Given the description of an element on the screen output the (x, y) to click on. 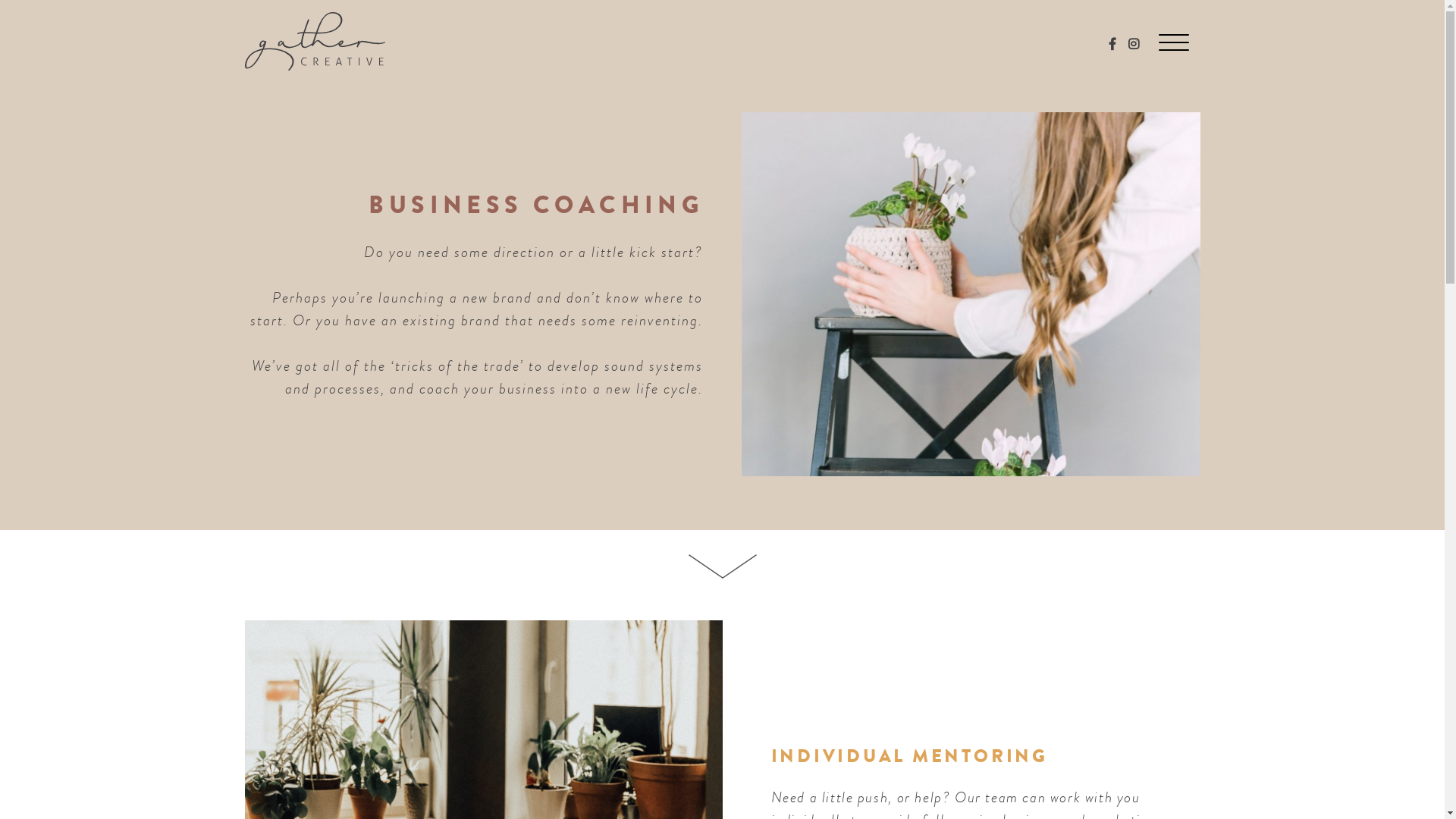
Follow us on Instagram Element type: hover (1134, 44)
Follow us on Facebook Element type: hover (1112, 44)
